Given the description of an element on the screen output the (x, y) to click on. 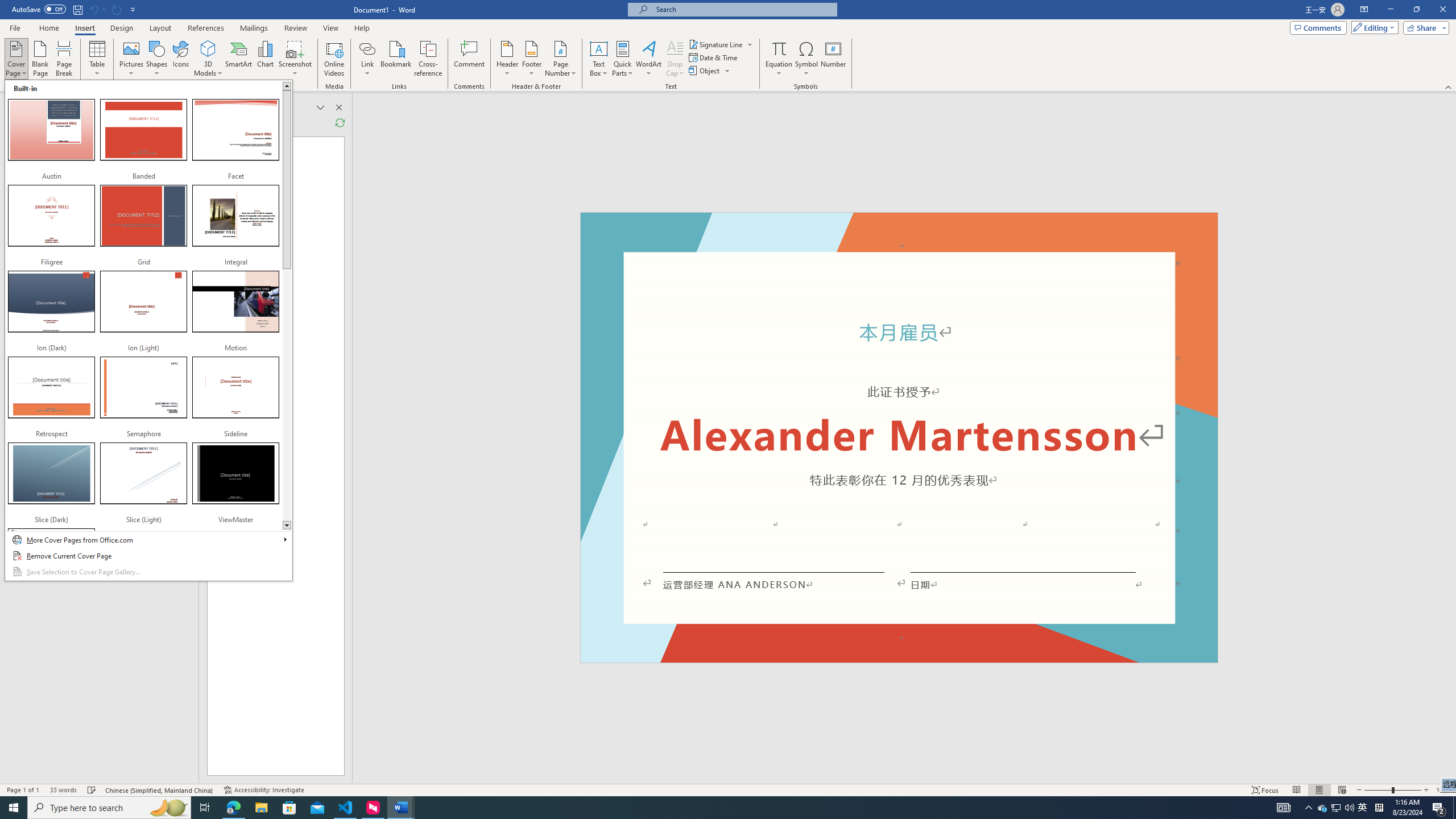
User Promoted Notification Area (1336, 807)
Page 1 content (898, 445)
Table (97, 58)
Class: NetUIScrollBar (1450, 437)
Action Center, 2 new notifications (1439, 807)
Start (13, 807)
Screenshot (295, 58)
Running applications (700, 807)
Microsoft Store (289, 807)
